Given the description of an element on the screen output the (x, y) to click on. 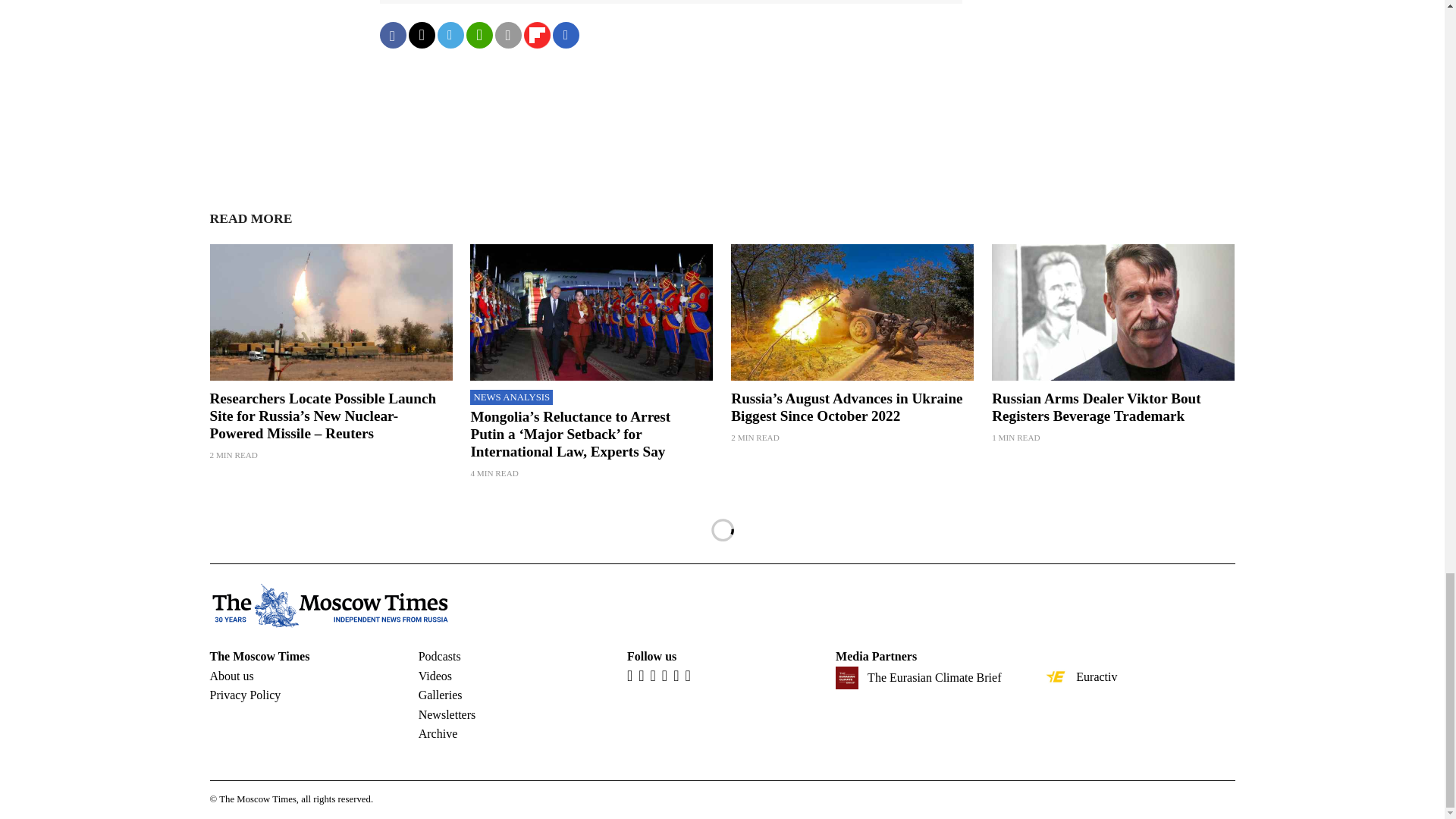
Share on Telegram (449, 35)
Share on Flipboard (536, 35)
Share on Twitter (420, 35)
Share on Facebook (392, 35)
